Given the description of an element on the screen output the (x, y) to click on. 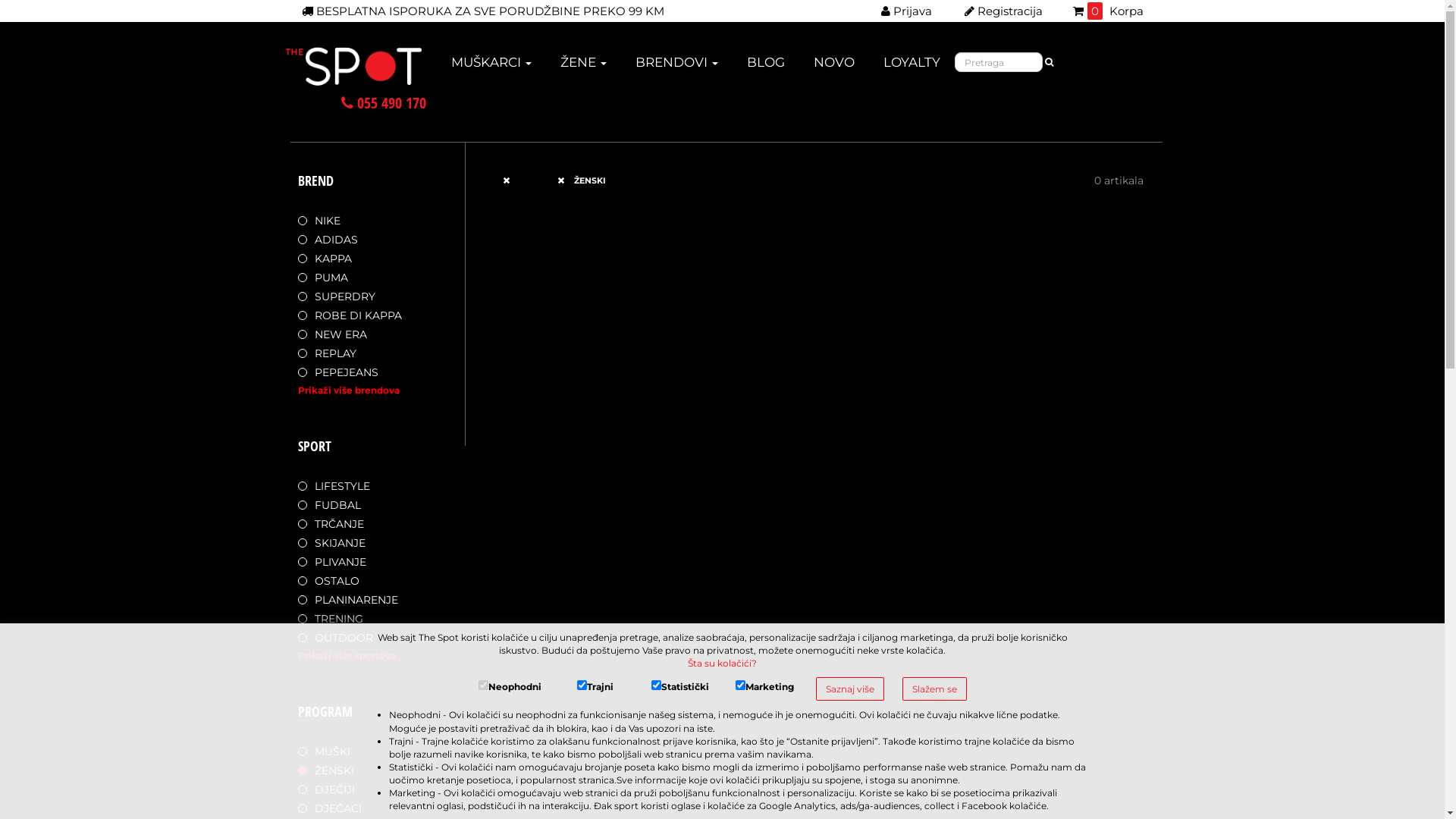
NOVO Element type: text (833, 66)
Registracija Element type: text (1003, 10)
0 Korpa Element type: text (1107, 10)
055 490 170 Element type: text (383, 102)
BRENDOVI Element type: text (676, 66)
LOYALTY Element type: text (911, 66)
Prijava Element type: text (906, 10)
Ukloni airmax97 Element type: hover (513, 180)
BLOG Element type: text (765, 66)
